Given the description of an element on the screen output the (x, y) to click on. 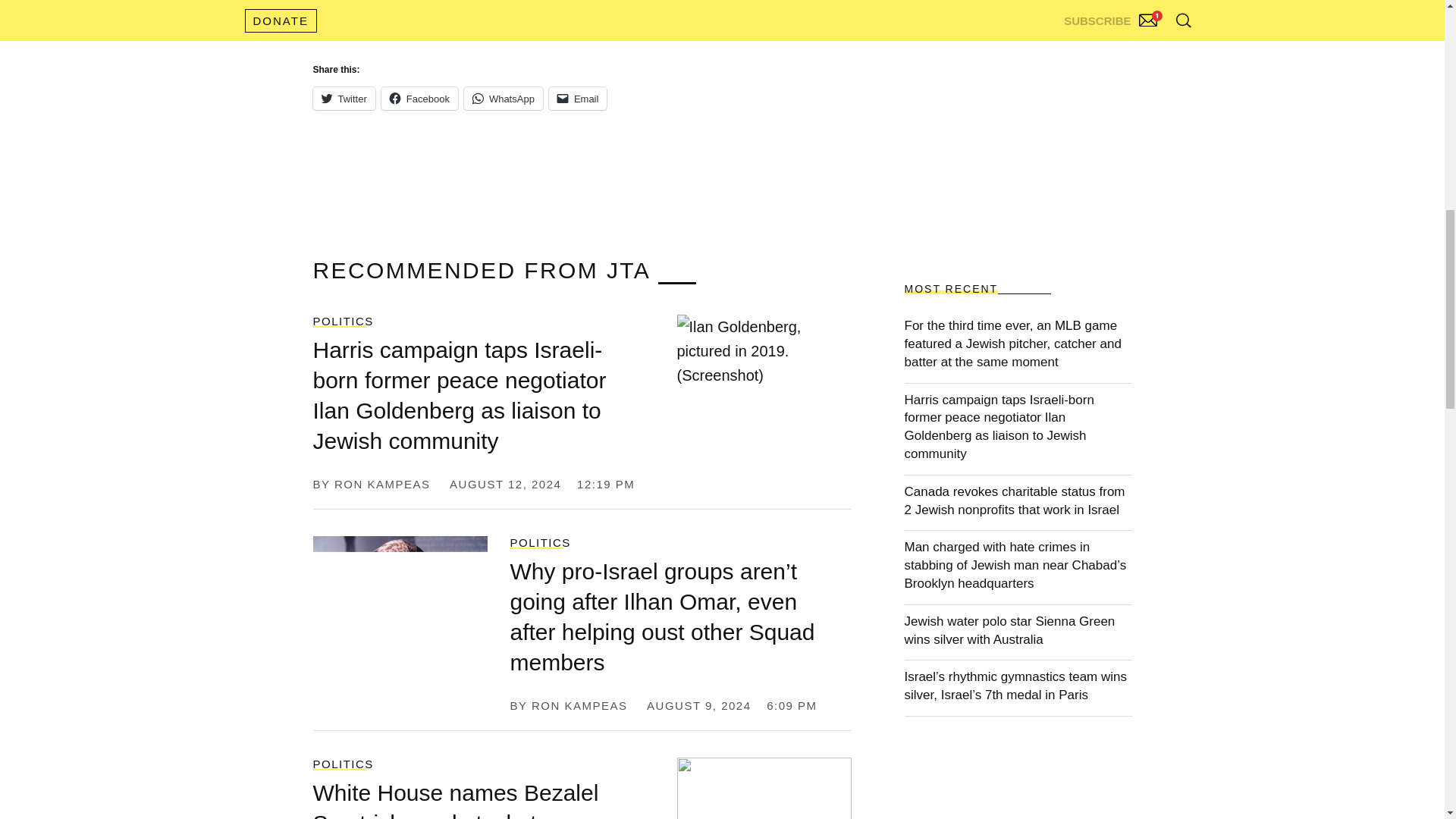
Click to share on Twitter (343, 97)
Click to email a link to a friend (577, 97)
Click to share on Facebook (419, 97)
Click to share on WhatsApp (503, 97)
